Given the description of an element on the screen output the (x, y) to click on. 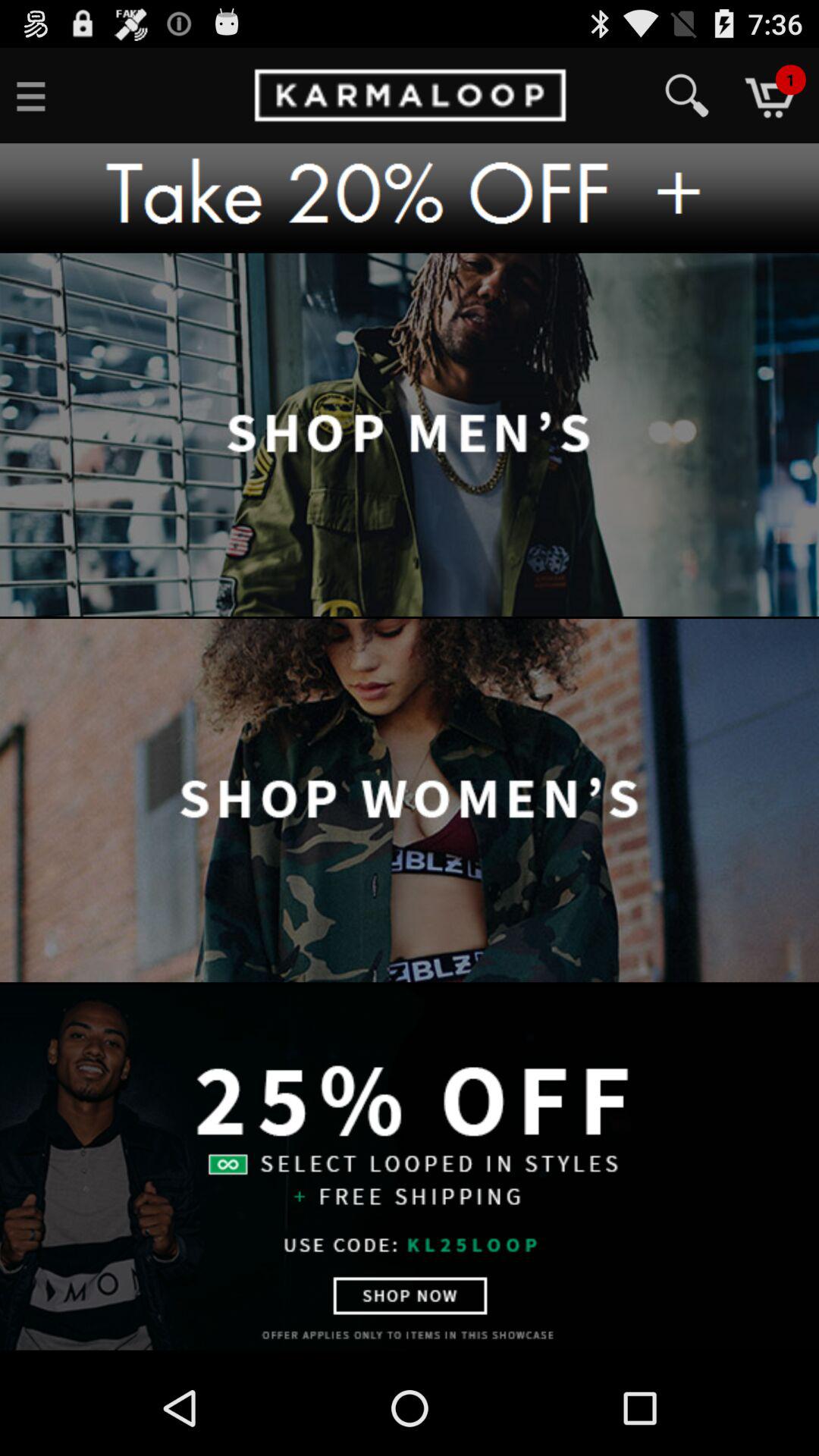
choose category (409, 801)
